Given the description of an element on the screen output the (x, y) to click on. 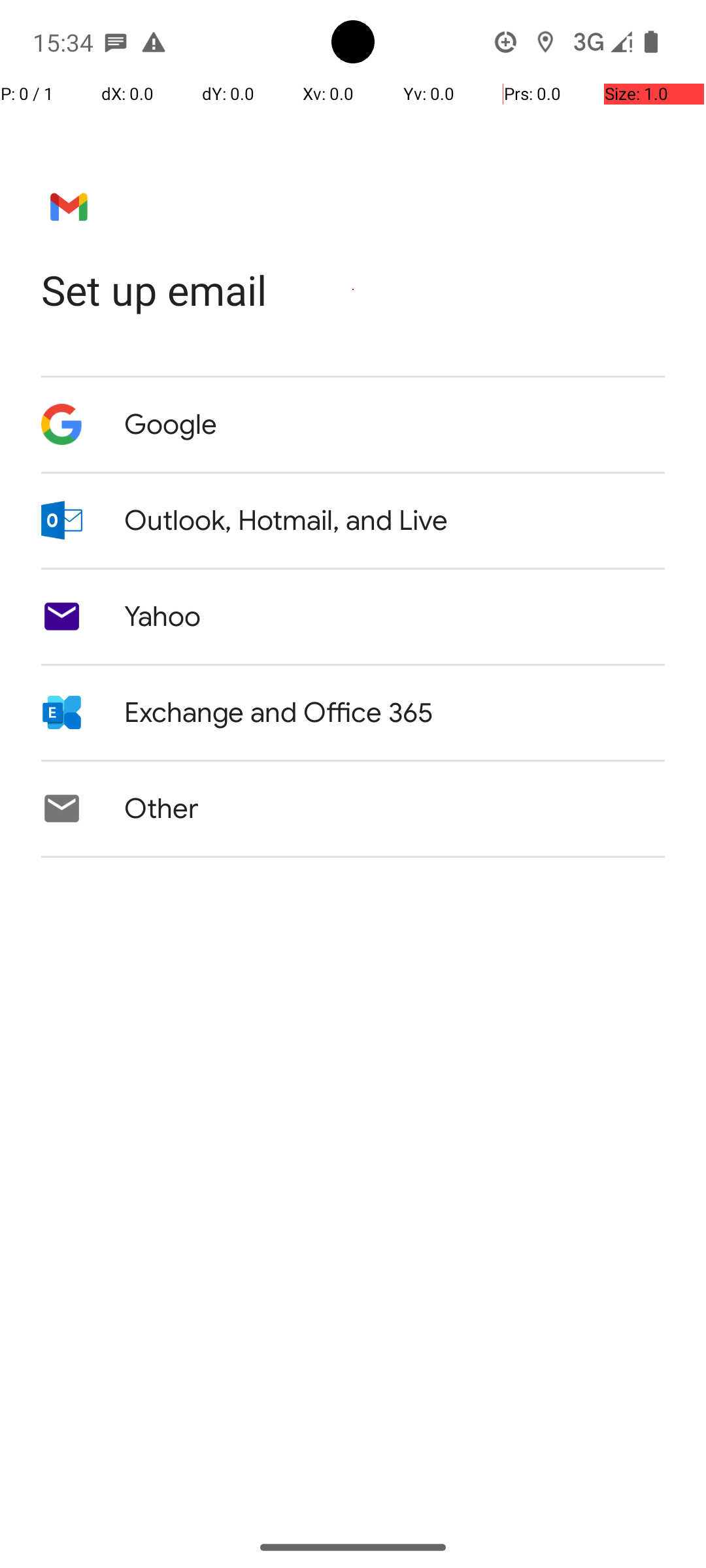
Set up email Element type: android.widget.TextView (352, 289)
Google Element type: android.widget.TextView (170, 424)
Outlook, Hotmail, and Live Element type: android.widget.TextView (286, 520)
Yahoo Element type: android.widget.TextView (162, 616)
Exchange and Office 365 Element type: android.widget.TextView (278, 712)
Other Element type: android.widget.TextView (161, 808)
